Given the description of an element on the screen output the (x, y) to click on. 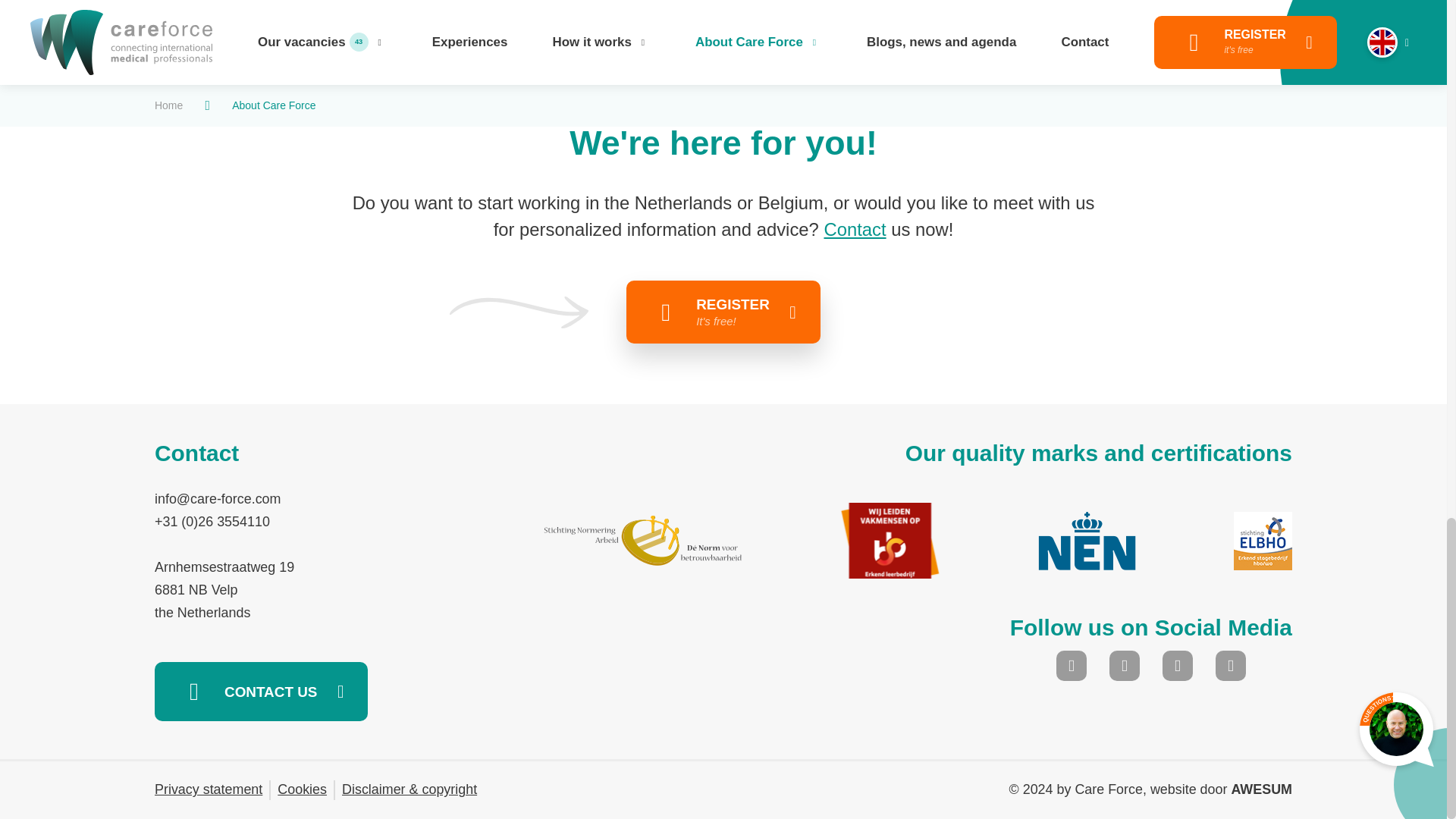
Contact (854, 229)
